Given the description of an element on the screen output the (x, y) to click on. 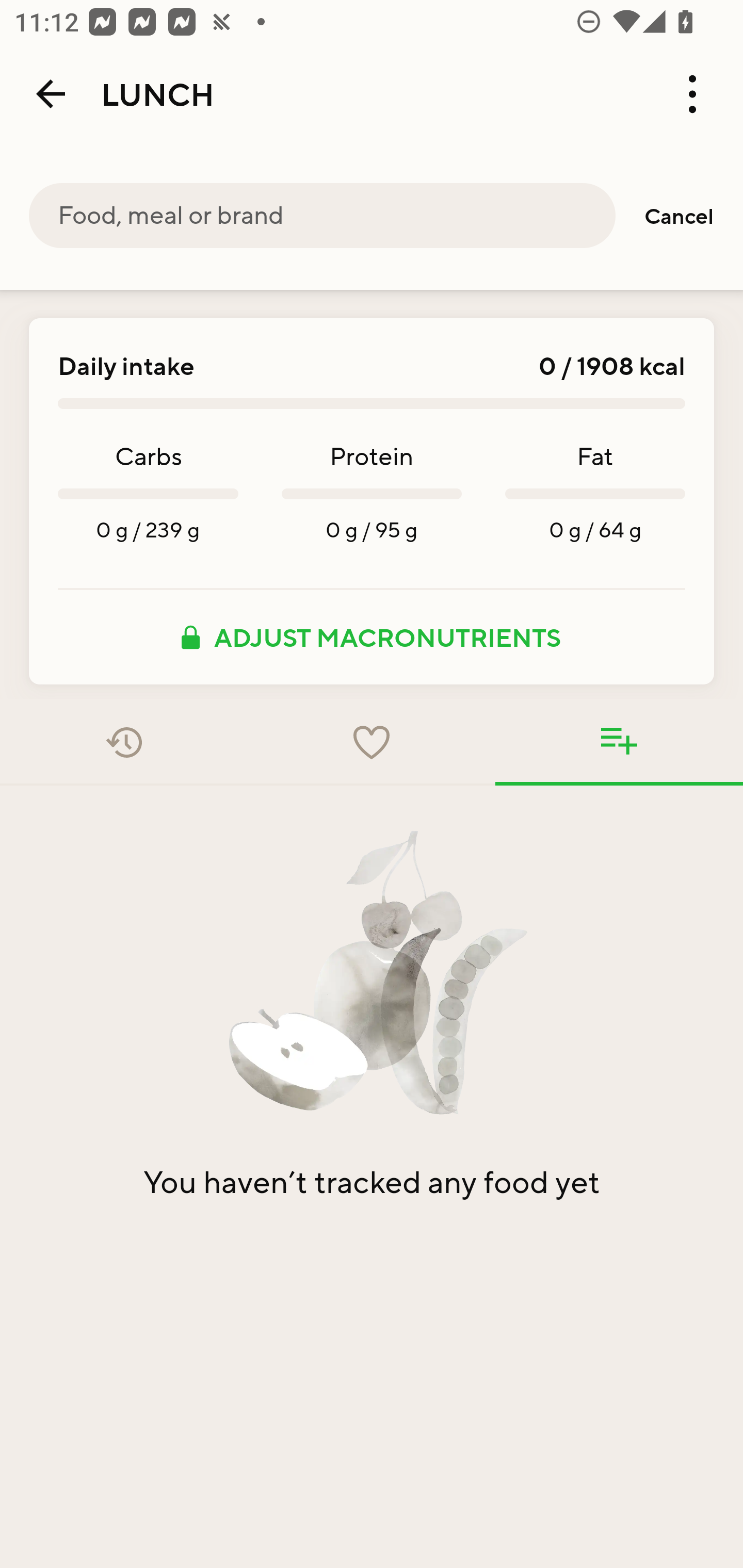
Back (50, 93)
Cancel (679, 215)
ADJUST MACRONUTRIENTS (371, 637)
Recent (123, 742)
Favorites (371, 742)
